Given the description of an element on the screen output the (x, y) to click on. 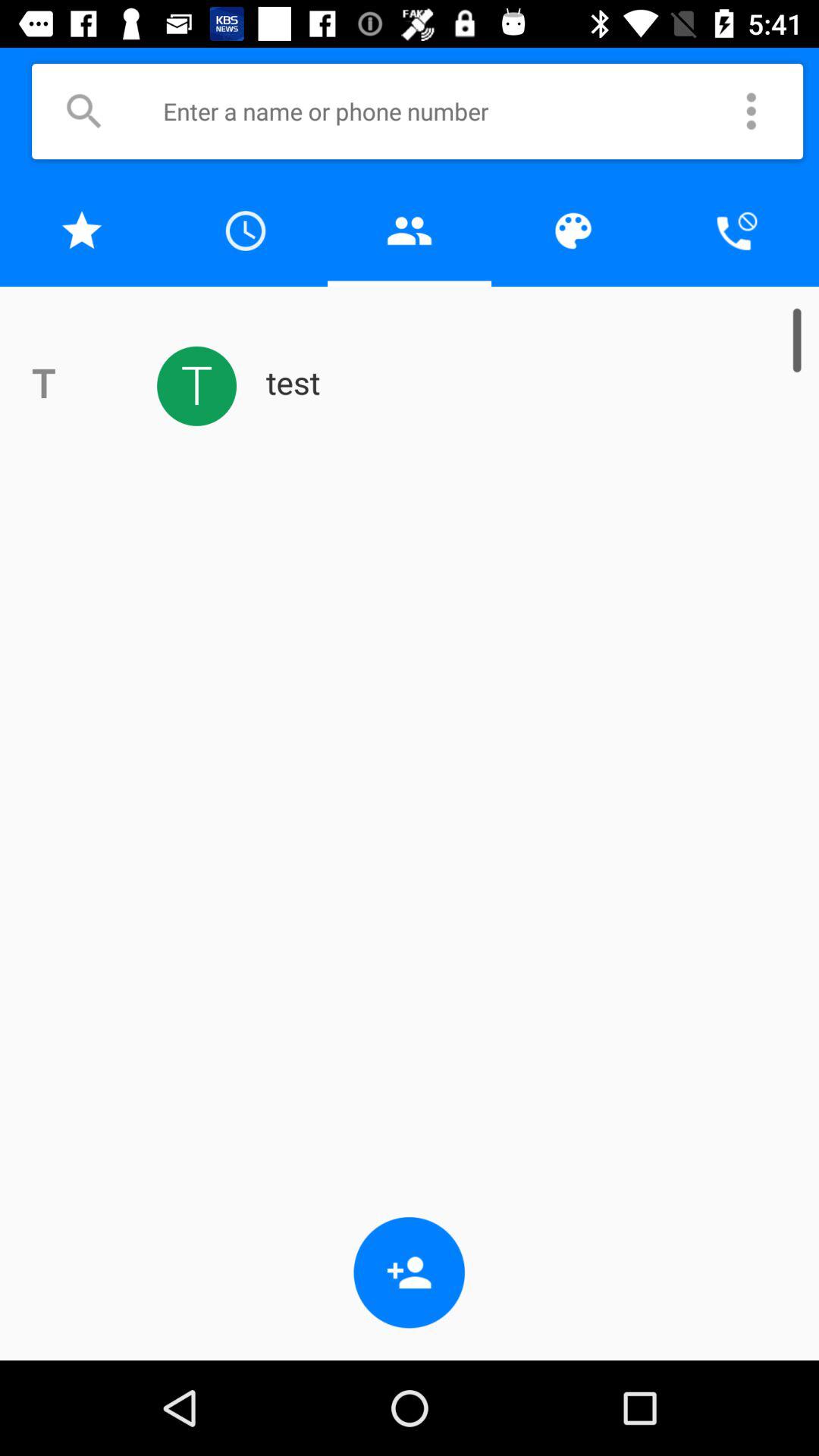
cancel phone call (737, 230)
